Given the description of an element on the screen output the (x, y) to click on. 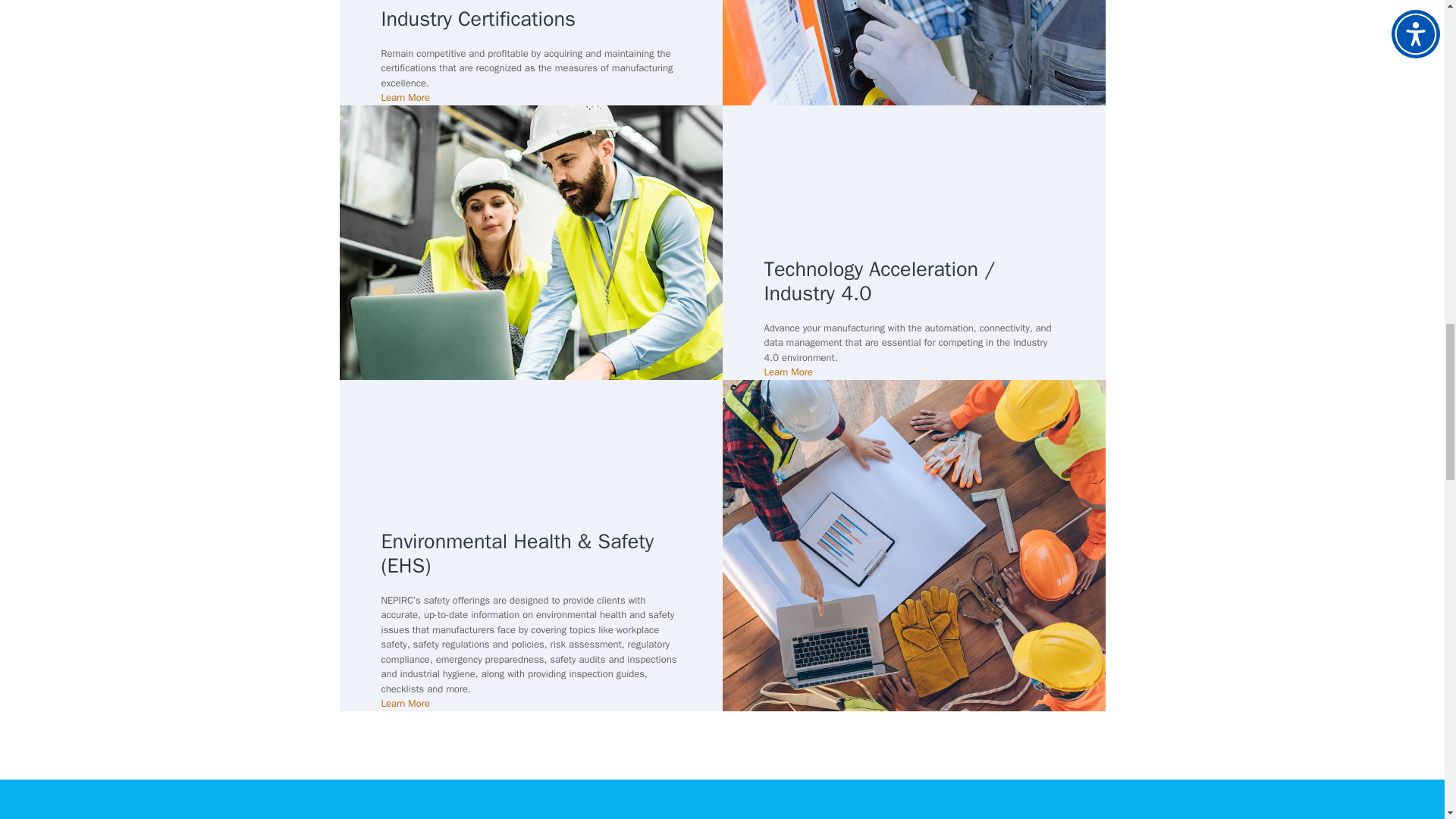
Learn More (788, 371)
Learn More (404, 97)
Learn More (404, 703)
